Given the description of an element on the screen output the (x, y) to click on. 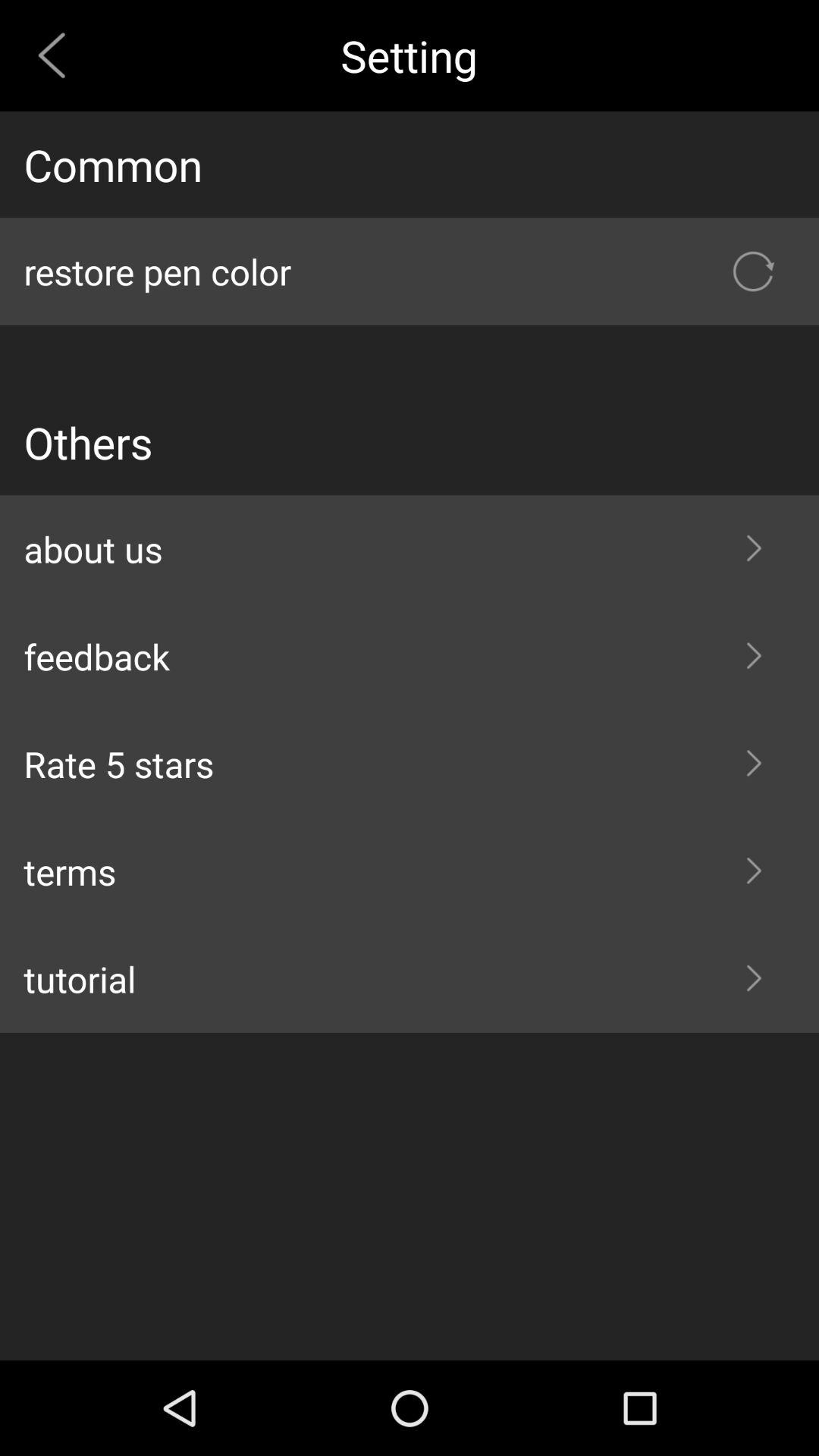
flip to terms icon (409, 871)
